Given the description of an element on the screen output the (x, y) to click on. 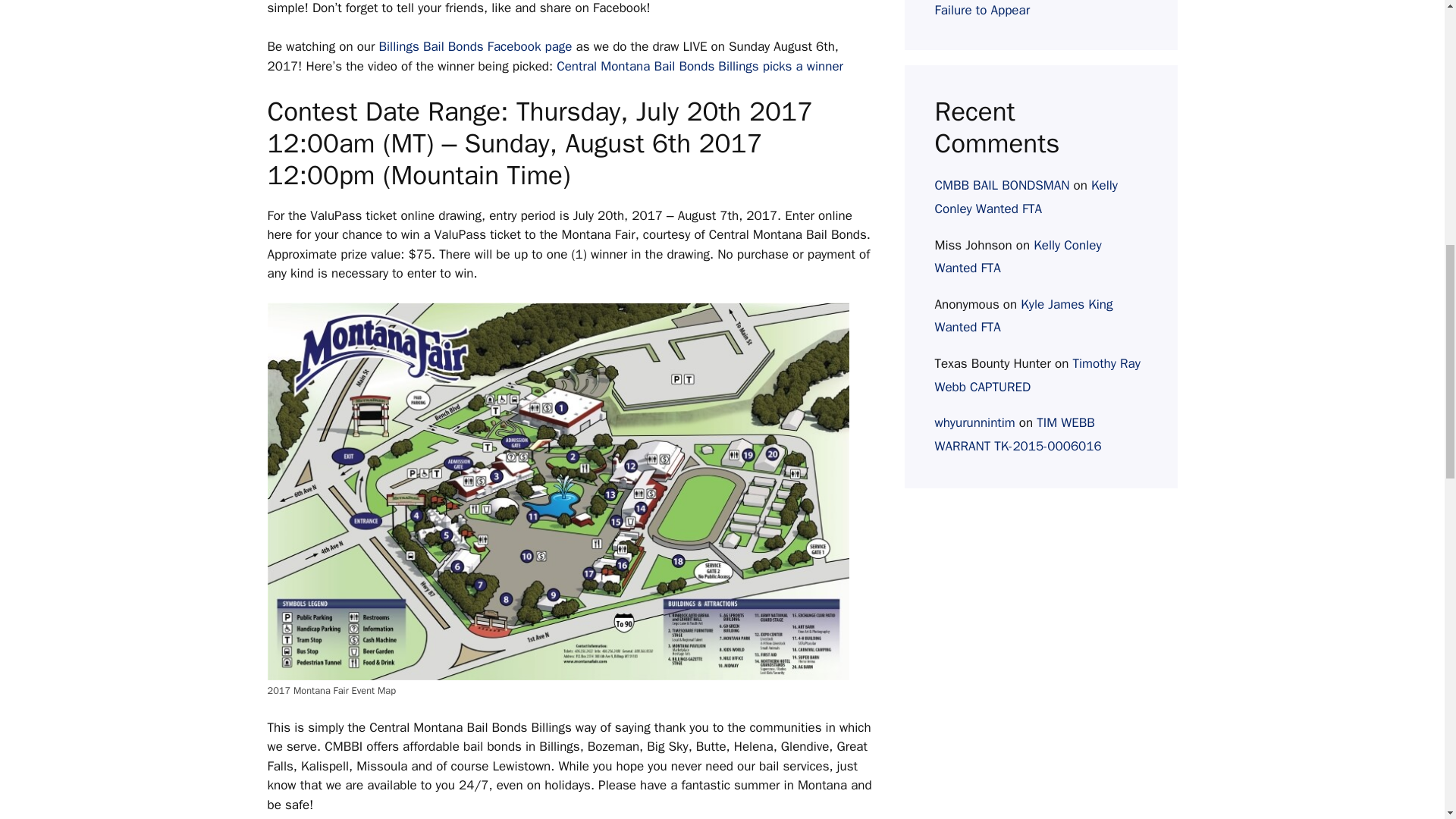
Central Montana Bail Bonds Billings picks a winner (699, 66)
